Given the description of an element on the screen output the (x, y) to click on. 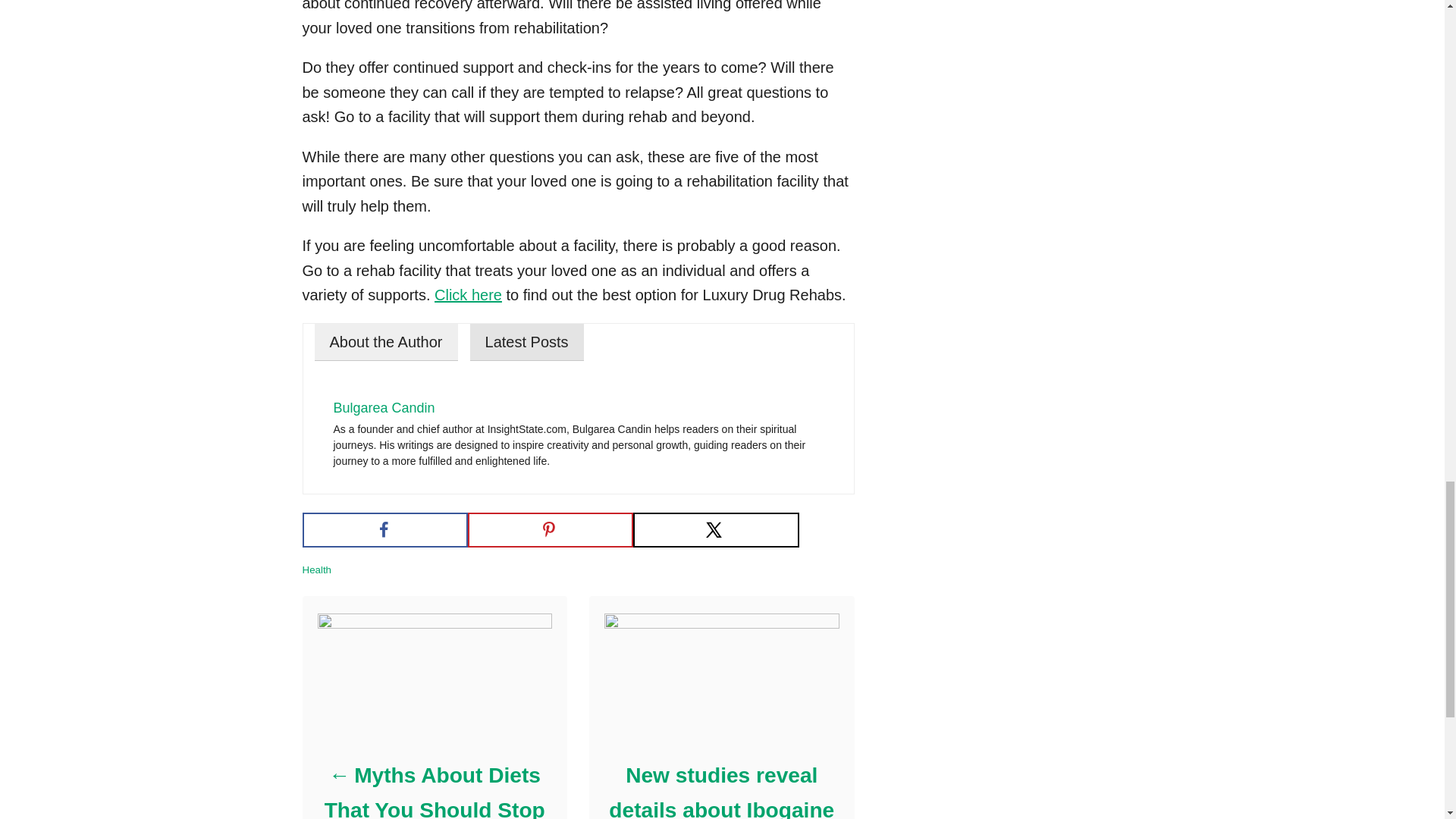
Health (316, 569)
Bulgarea Candin (384, 407)
Click here (467, 294)
Myths About Diets That You Should Stop to Believe (434, 788)
Share on Facebook (384, 529)
Share on X (715, 529)
Save to Pinterest (550, 529)
